Given the description of an element on the screen output the (x, y) to click on. 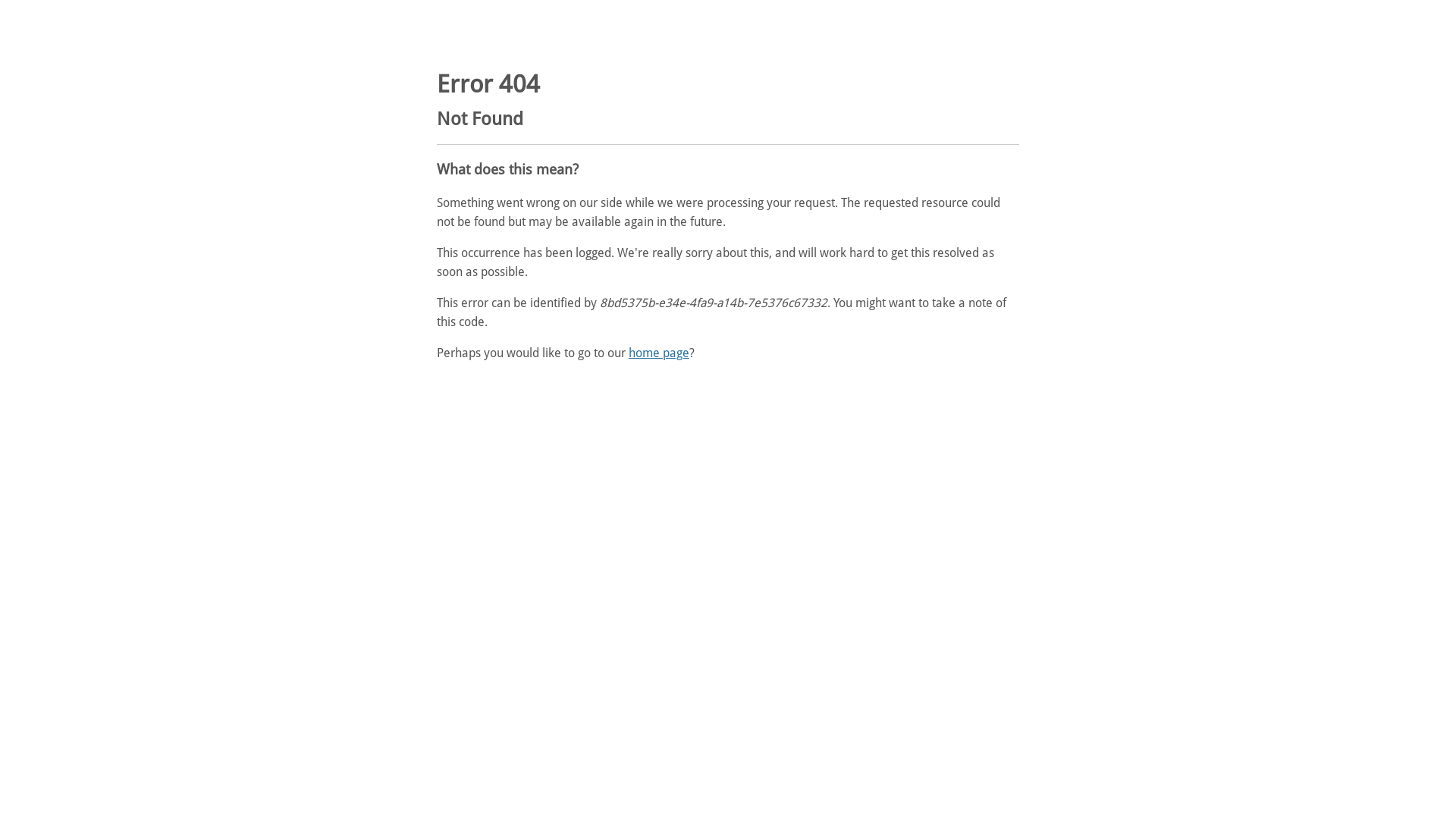
home page Element type: text (658, 352)
